Given the description of an element on the screen output the (x, y) to click on. 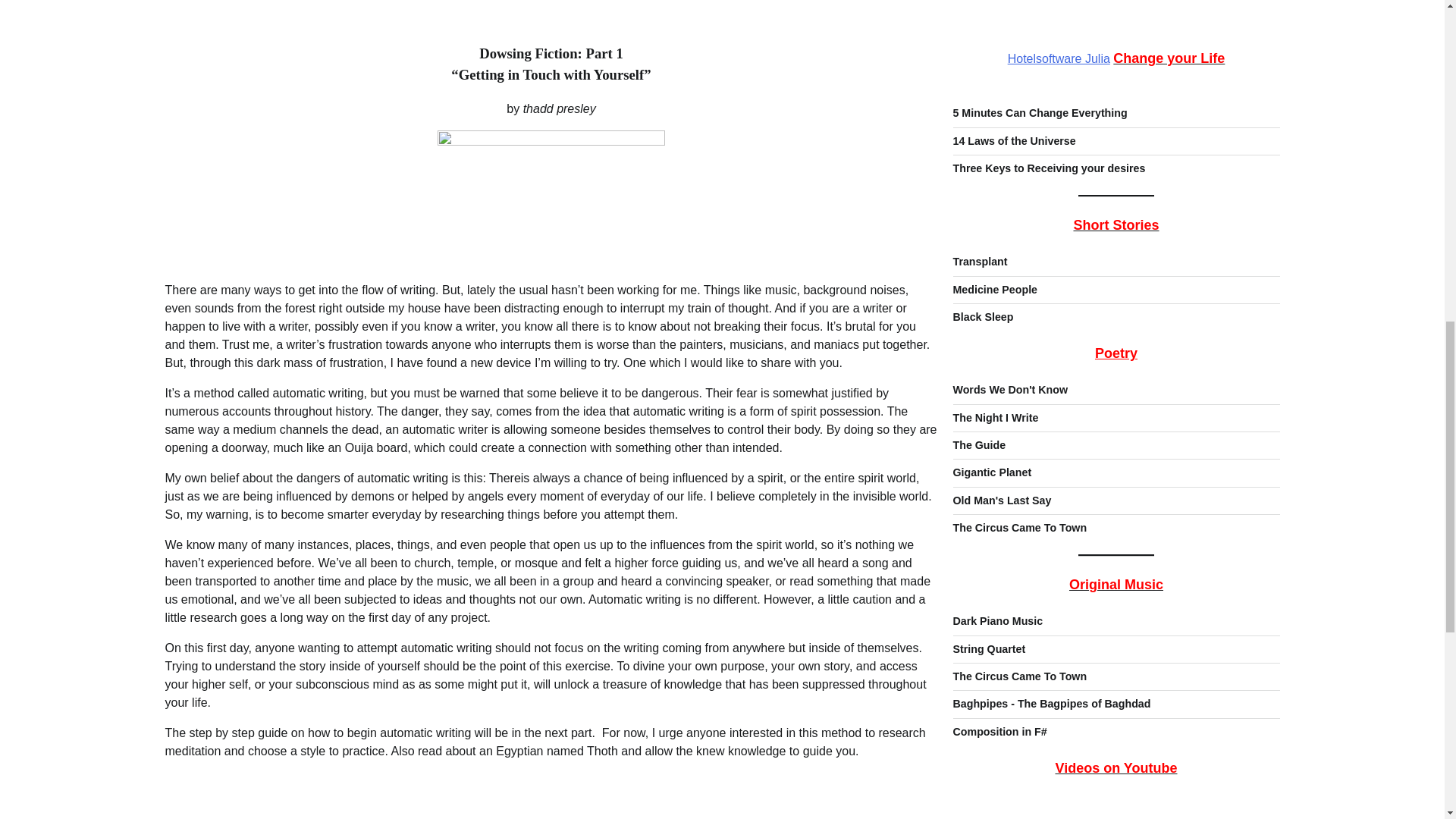
String Quartet (988, 585)
The Circus Came To Town (1019, 613)
The Guide (979, 381)
Three Keys to Receiving your desires (1048, 105)
Black Sleep (982, 254)
Transplant (979, 198)
Words We Don't Know (1009, 326)
Baghpipes - The Bagpipes of Baghdad (1051, 640)
YouTube video player (1115, 785)
14 Laws of the Universe (1013, 78)
Old Man's Last Say (1001, 437)
Dark Piano Music (997, 558)
5 Minutes Can Change Everything (1039, 50)
Hotelsoftware Julia (1058, 1)
Gigantic Planet (991, 409)
